Given the description of an element on the screen output the (x, y) to click on. 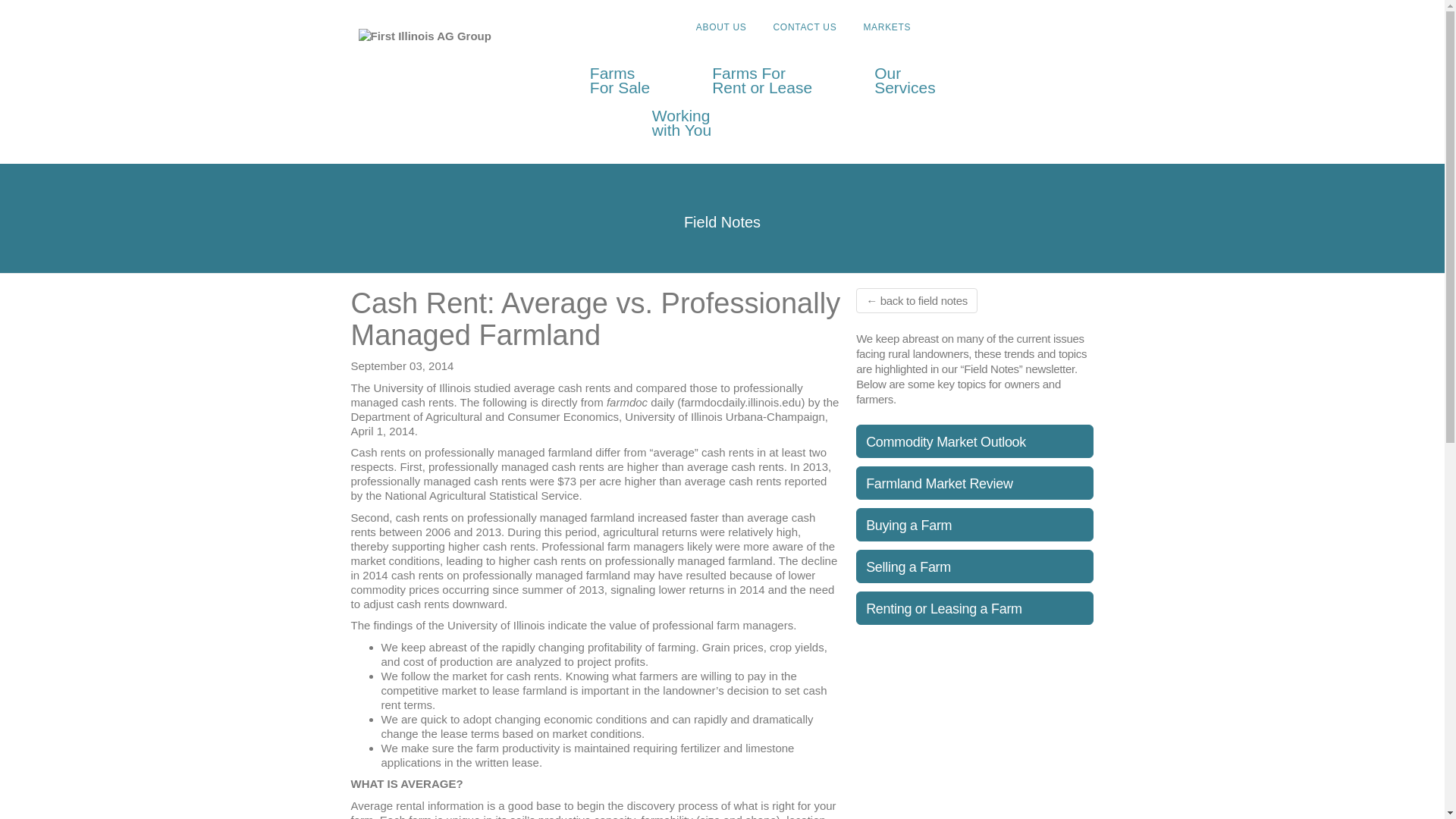
Farms and Land For Sale (761, 80)
Selling a Farm (974, 566)
CONTACT US (804, 27)
Renting or Leasing a Farm (692, 122)
Buying a Farm (974, 607)
twitter (974, 524)
MARKETS (1028, 25)
LinkedIn (887, 27)
back to Field Notes (1072, 25)
Contact Us (916, 300)
youtube (804, 27)
Markets (1051, 25)
Farmland Market Review (887, 27)
farmdocdaily.illinois.edu (974, 482)
